Given the description of an element on the screen output the (x, y) to click on. 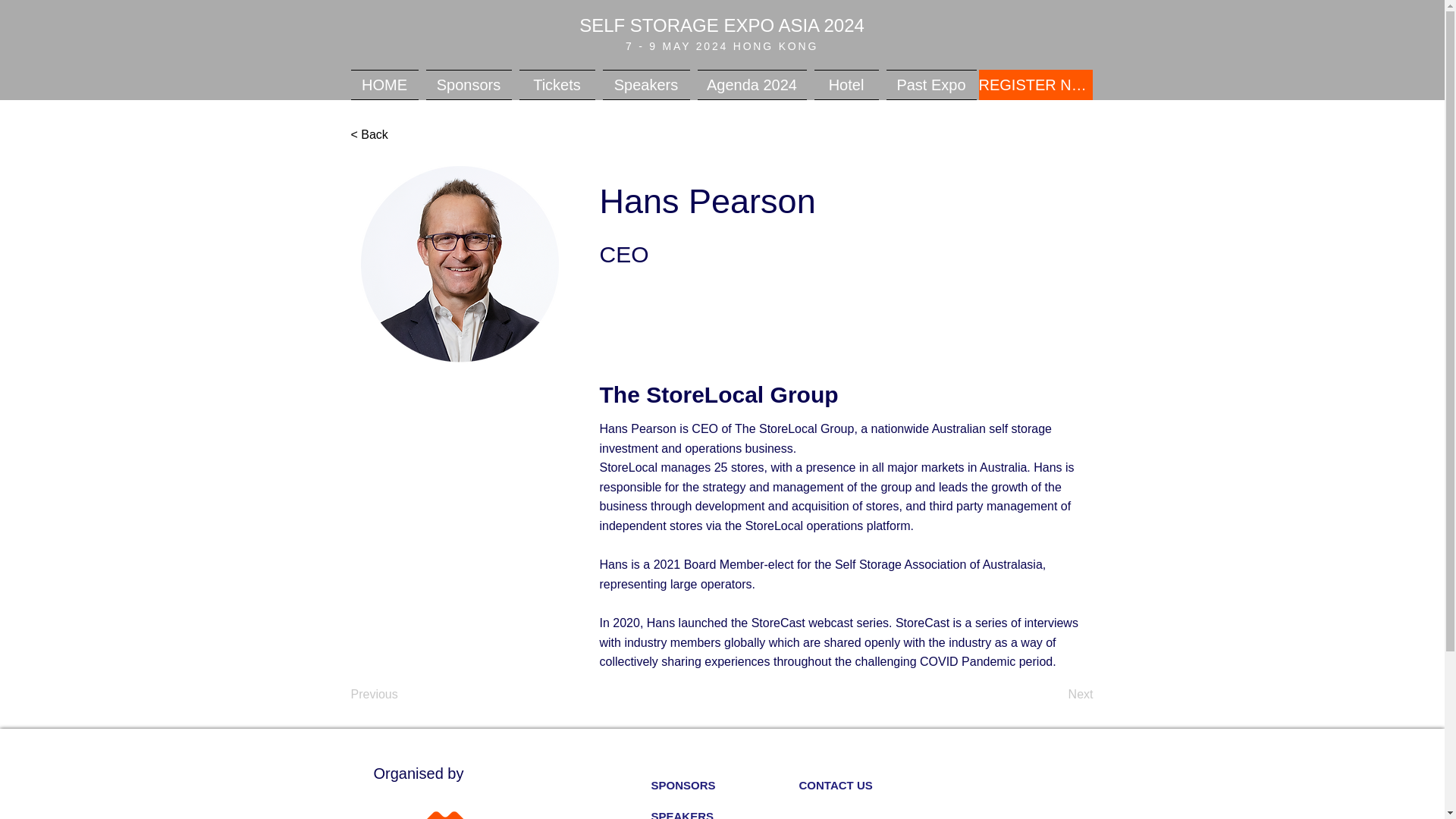
SPONSORS (723, 785)
CONTACT US (873, 785)
Speakers (646, 84)
Hans Pearson.png (460, 264)
SPEAKERS (723, 810)
Hotel (845, 84)
Next (1055, 694)
Agenda 2024 (751, 84)
HOME (386, 84)
REGISTER NOW (1035, 84)
Previous (399, 694)
Tickets (556, 84)
SELF STORAGE EXPO ASIA 2024 (721, 25)
